Given the description of an element on the screen output the (x, y) to click on. 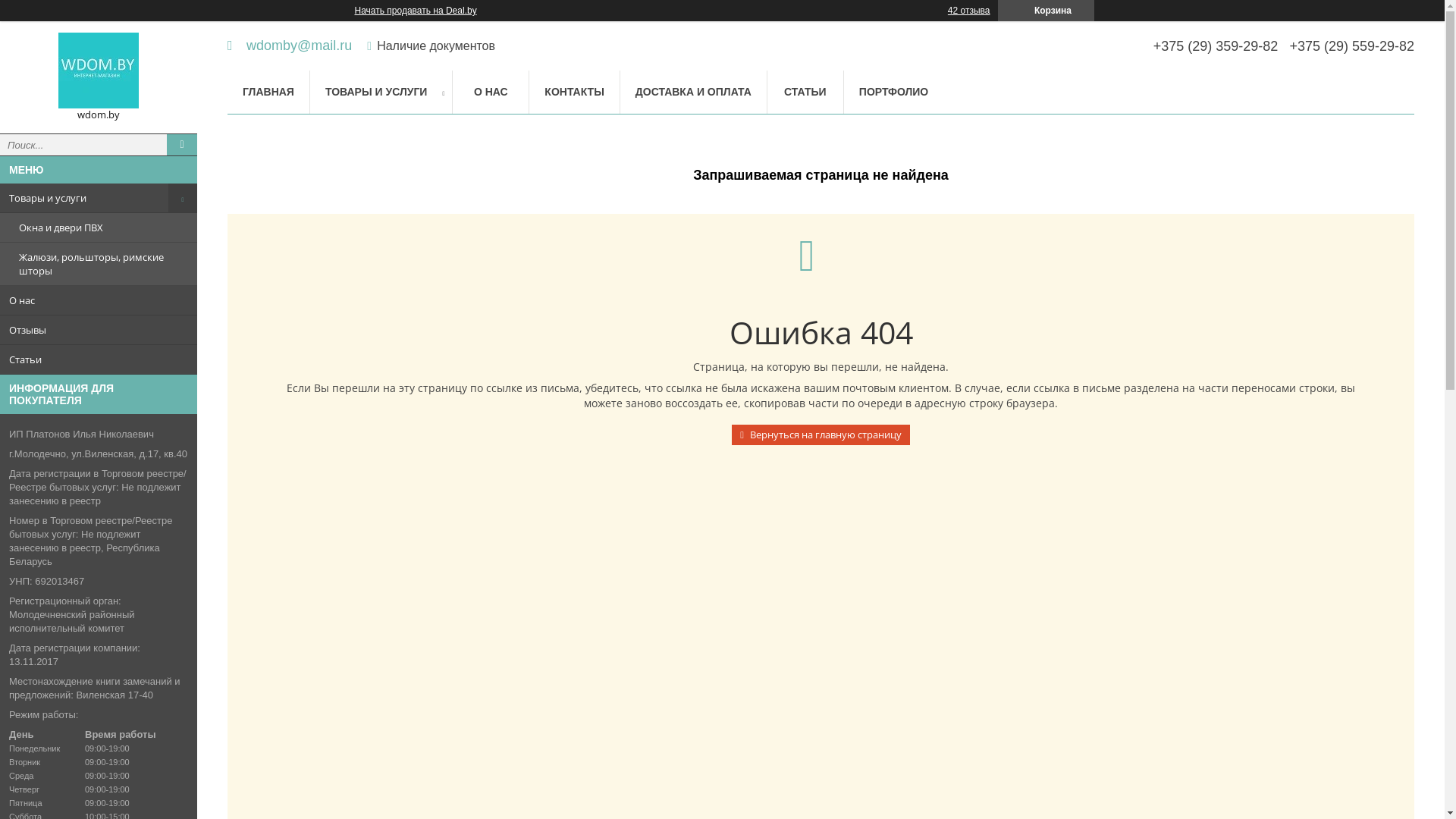
wdomby@mail.ru Element type: text (289, 45)
WDOM.BY Element type: hover (98, 70)
